Given the description of an element on the screen output the (x, y) to click on. 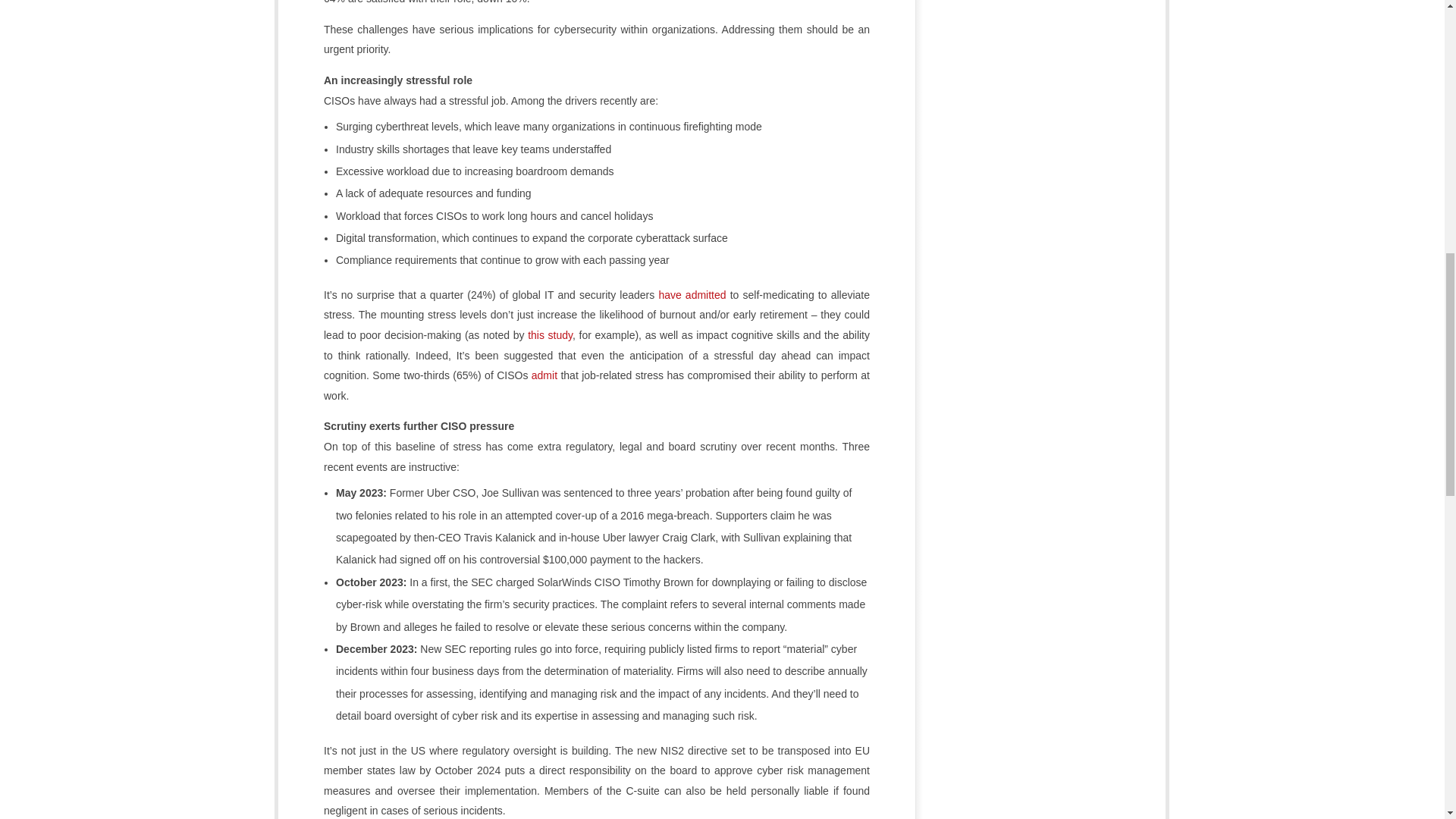
cyberattack surface (680, 237)
skills shortages (413, 149)
admit (544, 375)
cyberthreat levels (416, 126)
this study (549, 335)
have admitted (691, 295)
